Given the description of an element on the screen output the (x, y) to click on. 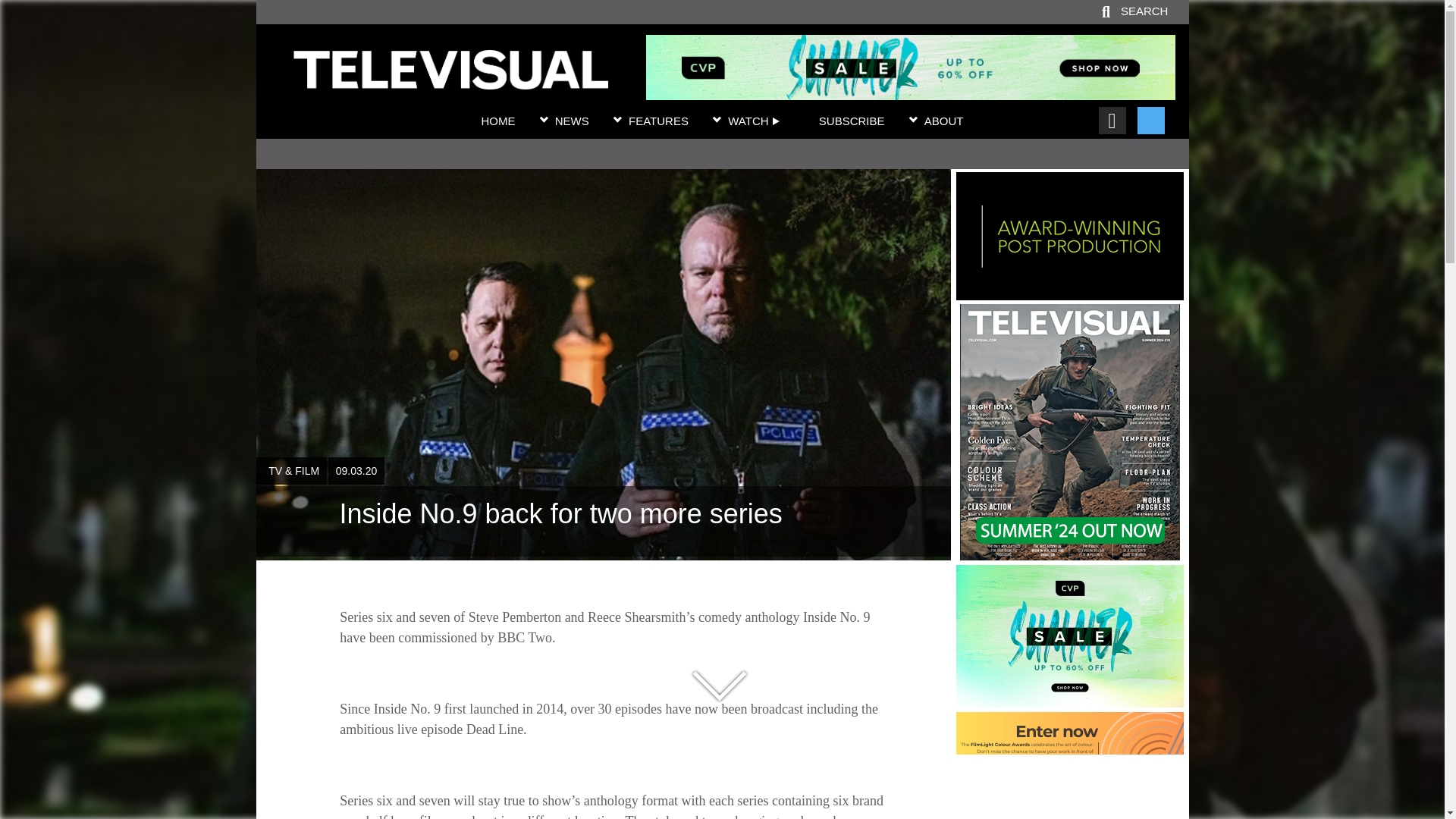
NEWS (571, 121)
WATCH (753, 121)
Inside No.9 back for two more series (603, 521)
HOME (497, 121)
FEATURES (658, 121)
Inside No.9 back for two more series (451, 80)
09.03.20 (356, 470)
ABOUT (943, 121)
SUBSCRIBE (851, 121)
